Given the description of an element on the screen output the (x, y) to click on. 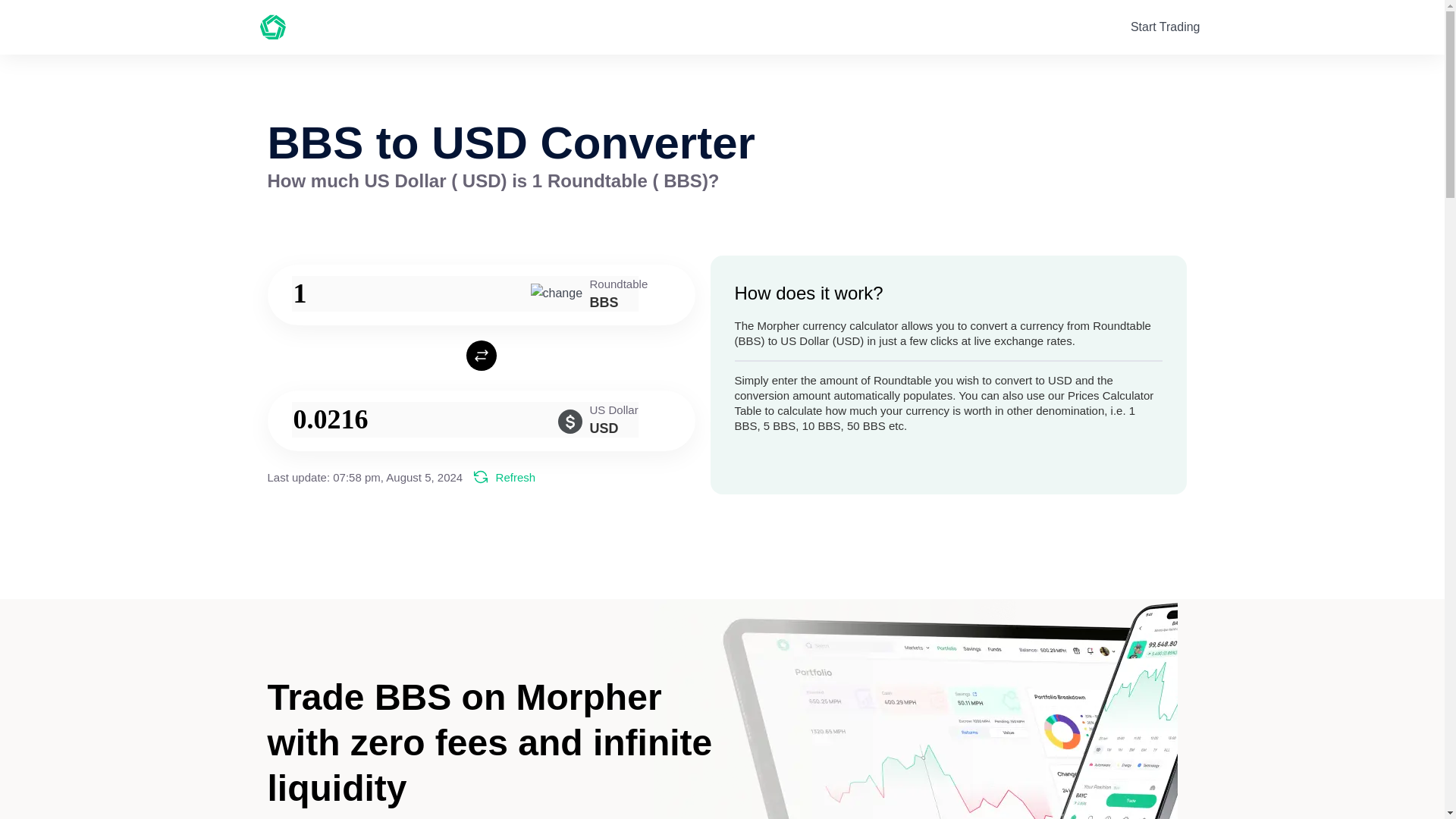
1 (464, 294)
Start Trading (1165, 26)
0.0216 (464, 419)
